Given the description of an element on the screen output the (x, y) to click on. 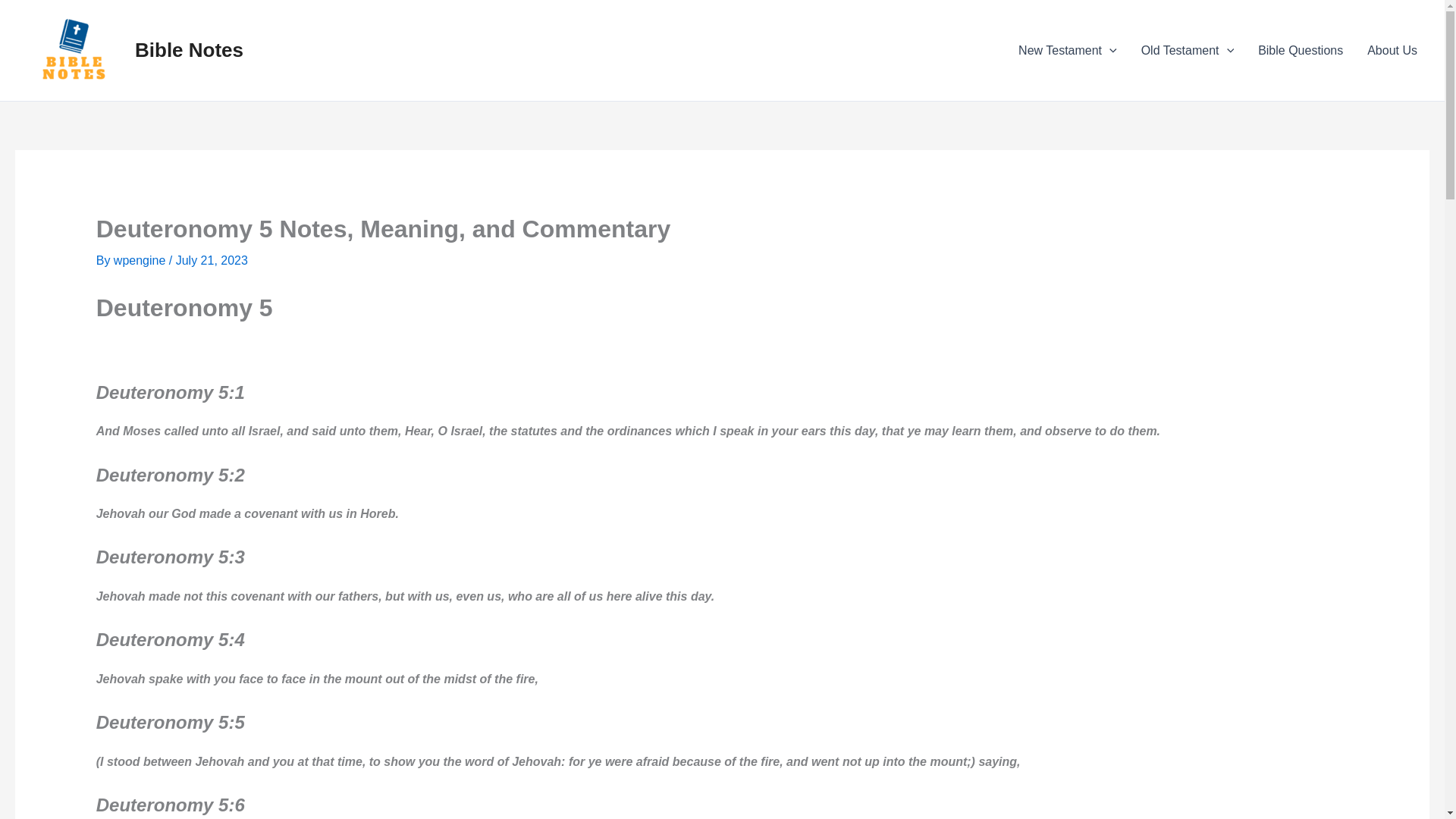
New Testament (1067, 49)
Bible Notes (189, 49)
Old Testament (1187, 49)
View all posts by wpengine (140, 259)
